Given the description of an element on the screen output the (x, y) to click on. 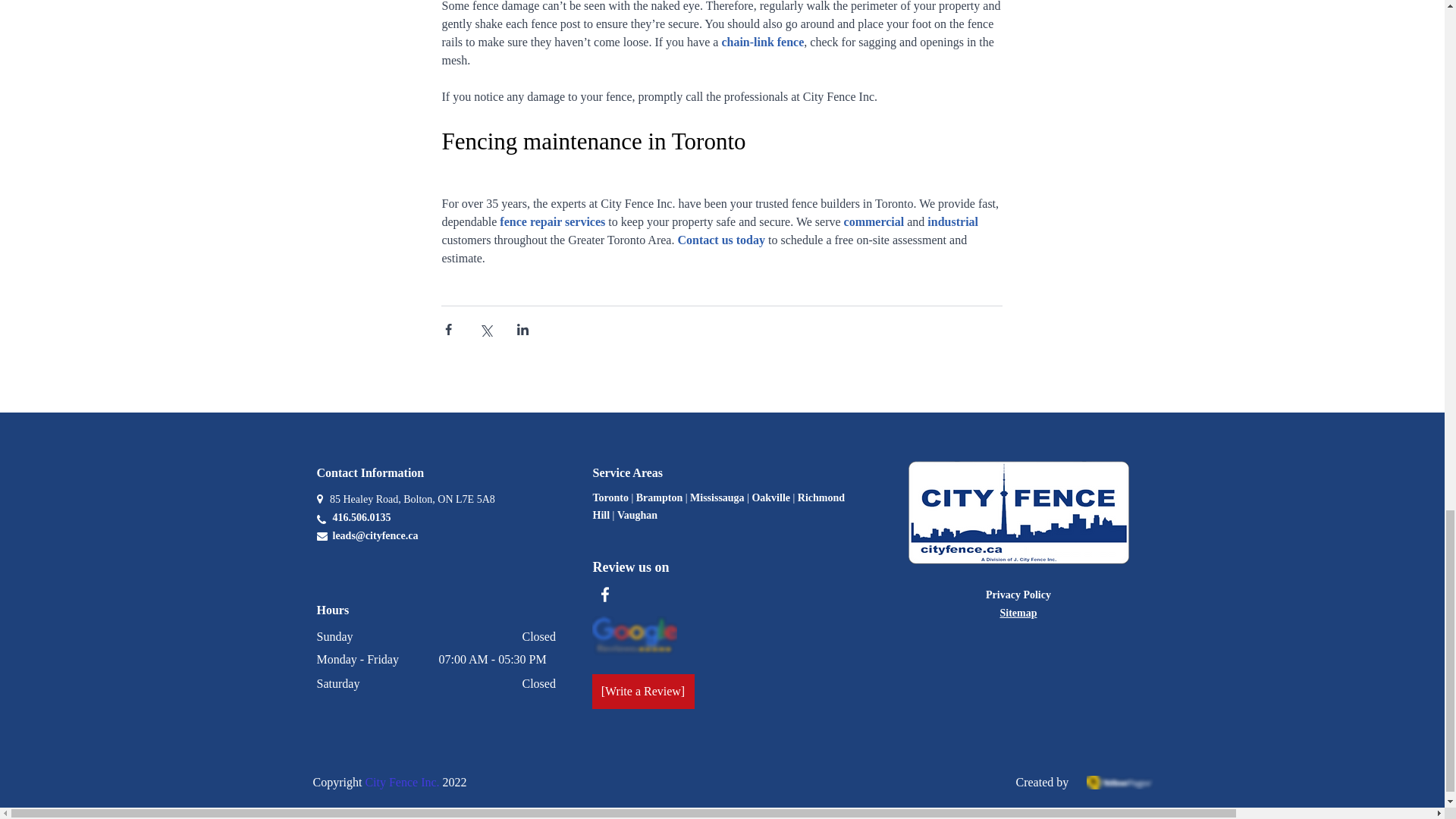
chain-link fence (761, 42)
fence repair services (552, 221)
city fence 500 235.png (1019, 512)
commercial  (875, 221)
